Given the description of an element on the screen output the (x, y) to click on. 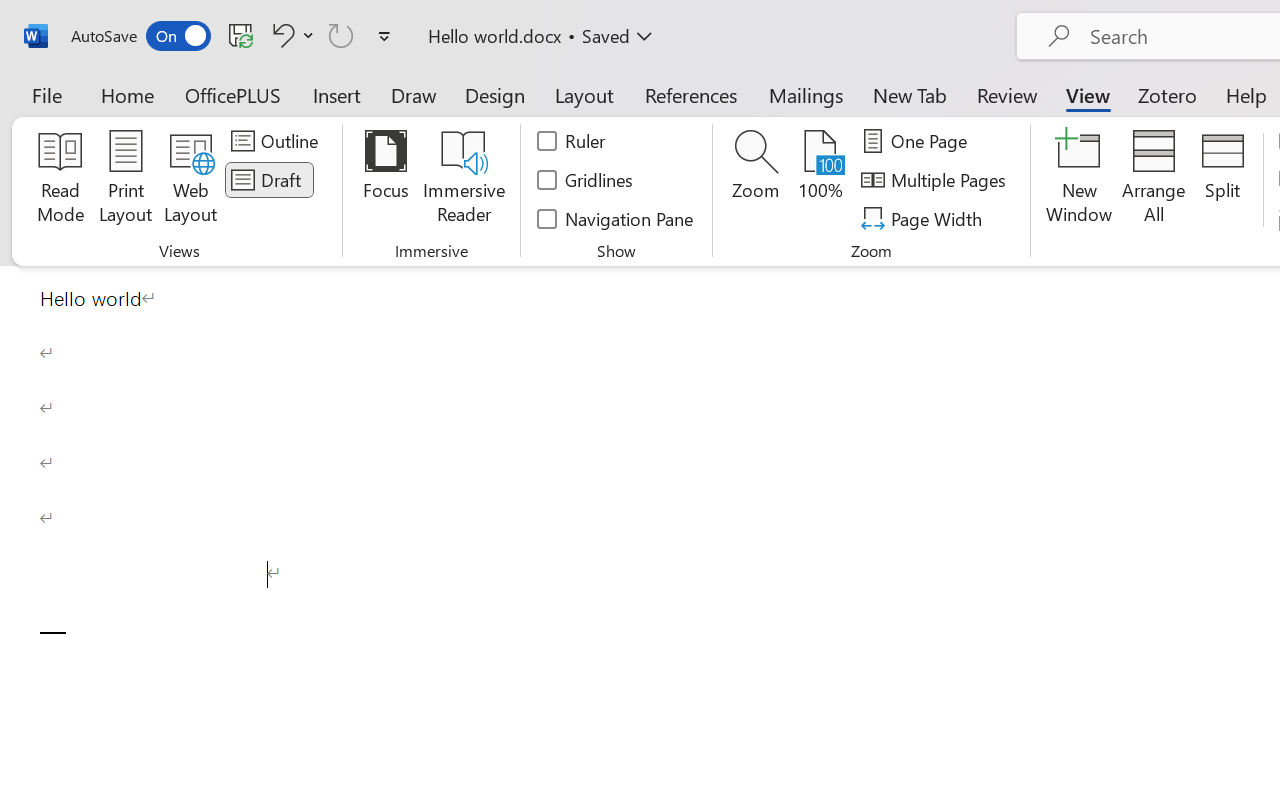
Insert (337, 94)
Mailings (806, 94)
Review (1007, 94)
View (1087, 94)
New Window (1079, 179)
Layout (584, 94)
Zotero (1166, 94)
Undo Paragraph Formatting (290, 35)
Page Width (924, 218)
Draft (269, 179)
Outline (278, 141)
Immersive Reader (464, 179)
More Options (308, 35)
